Given the description of an element on the screen output the (x, y) to click on. 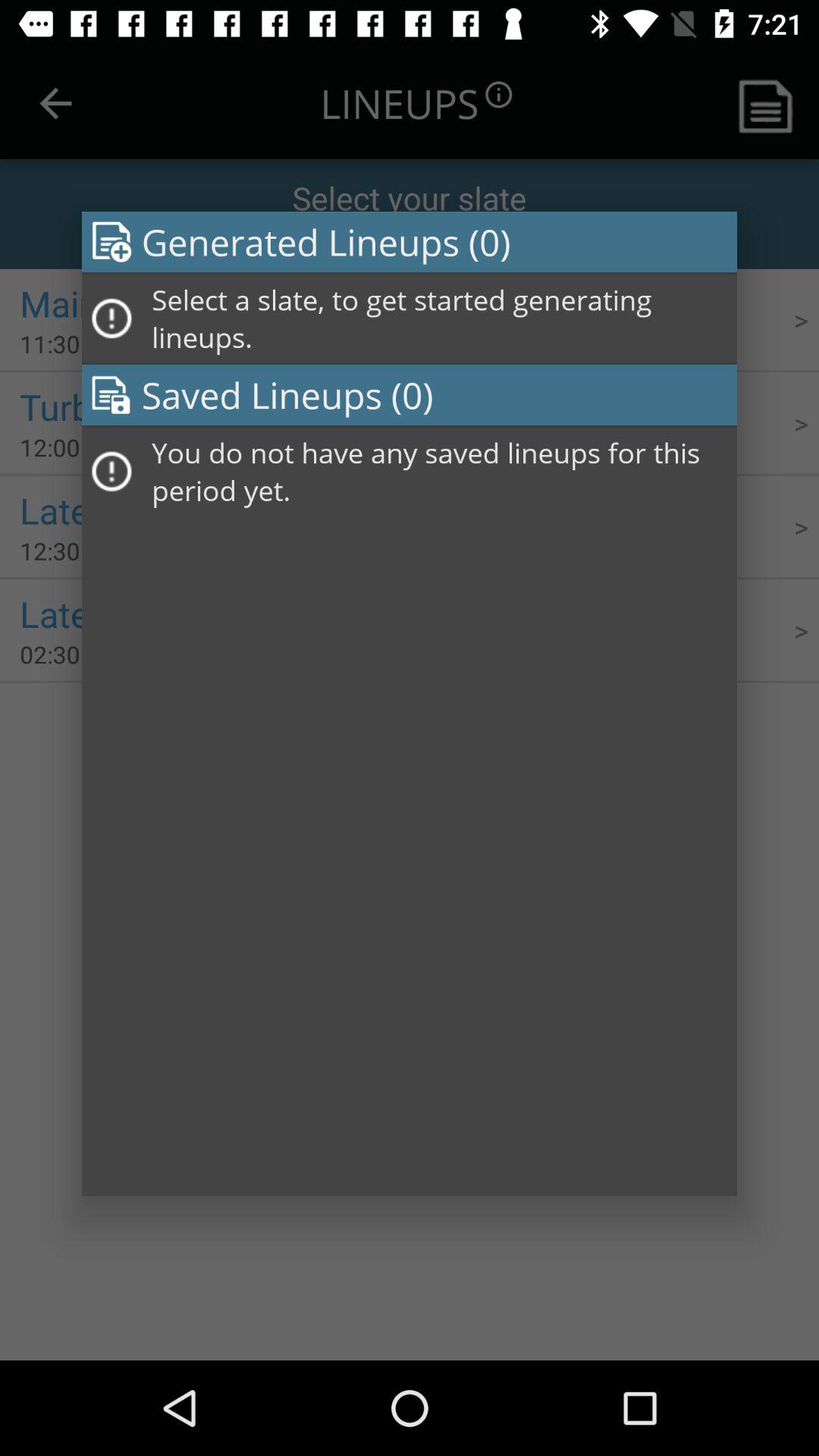
choose the you do not (438, 471)
